Given the description of an element on the screen output the (x, y) to click on. 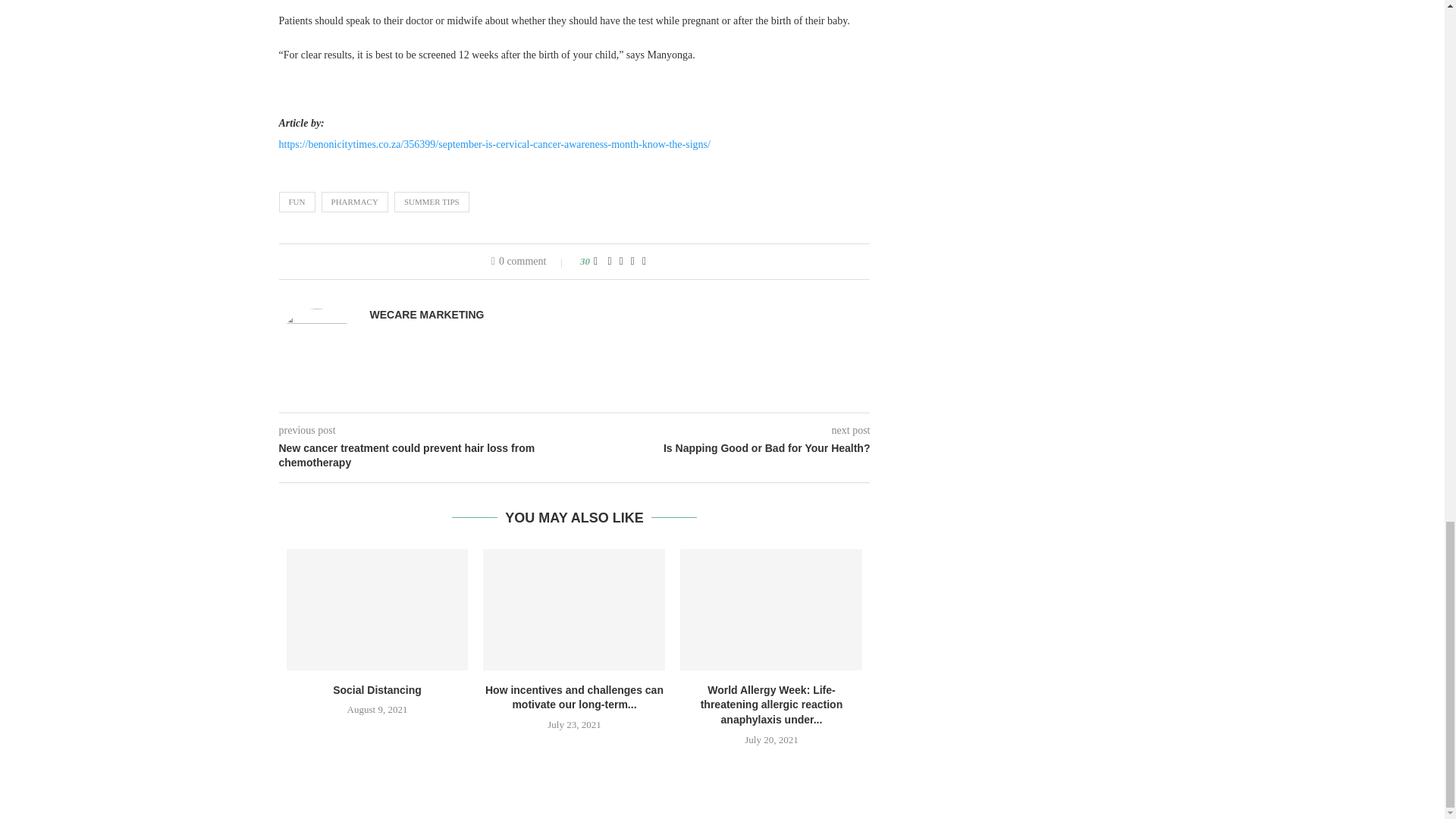
Social Distancing (377, 609)
Author WeCare Marketing (426, 314)
